Given the description of an element on the screen output the (x, y) to click on. 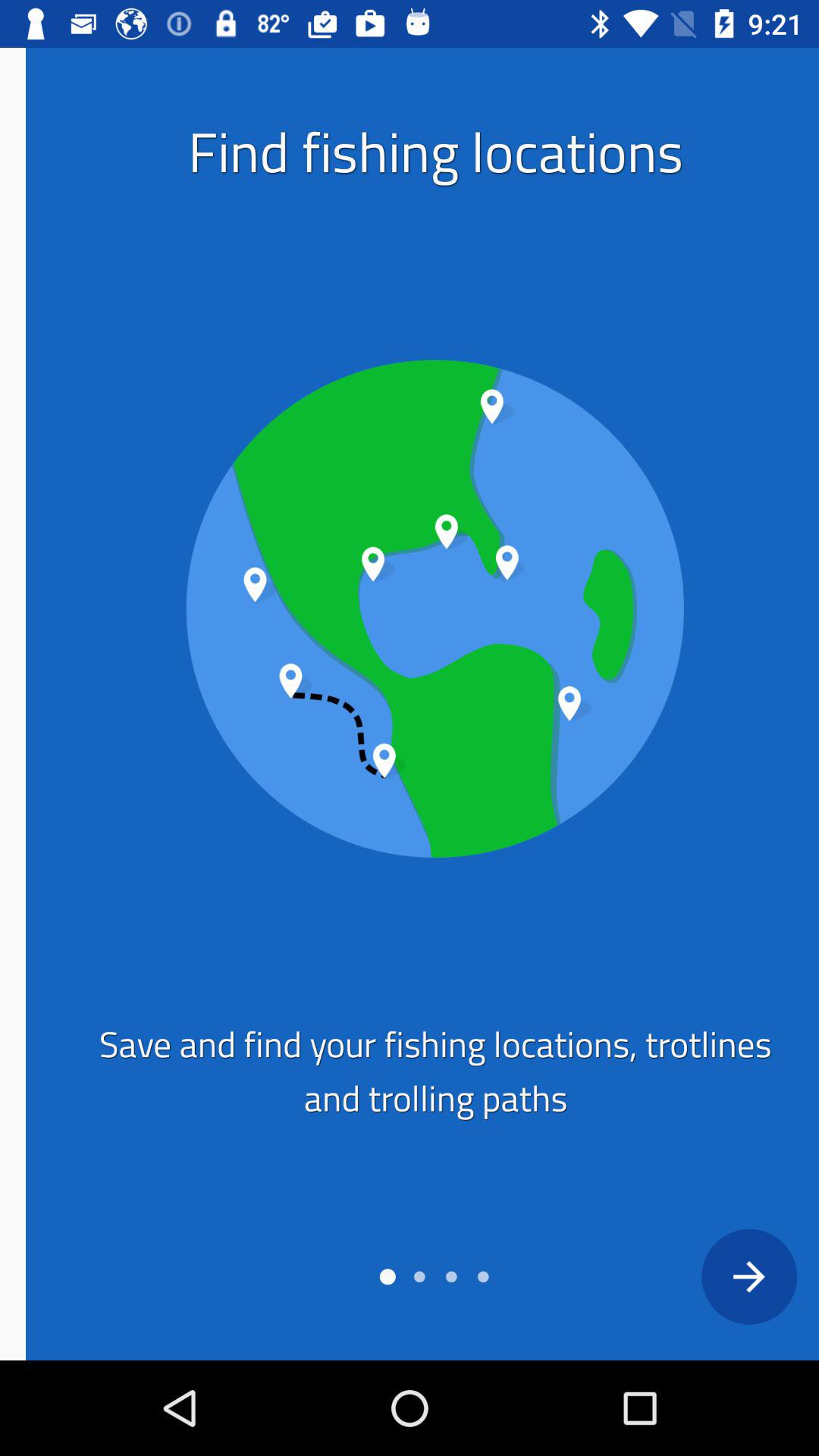
go to next box (723, 1276)
